Given the description of an element on the screen output the (x, y) to click on. 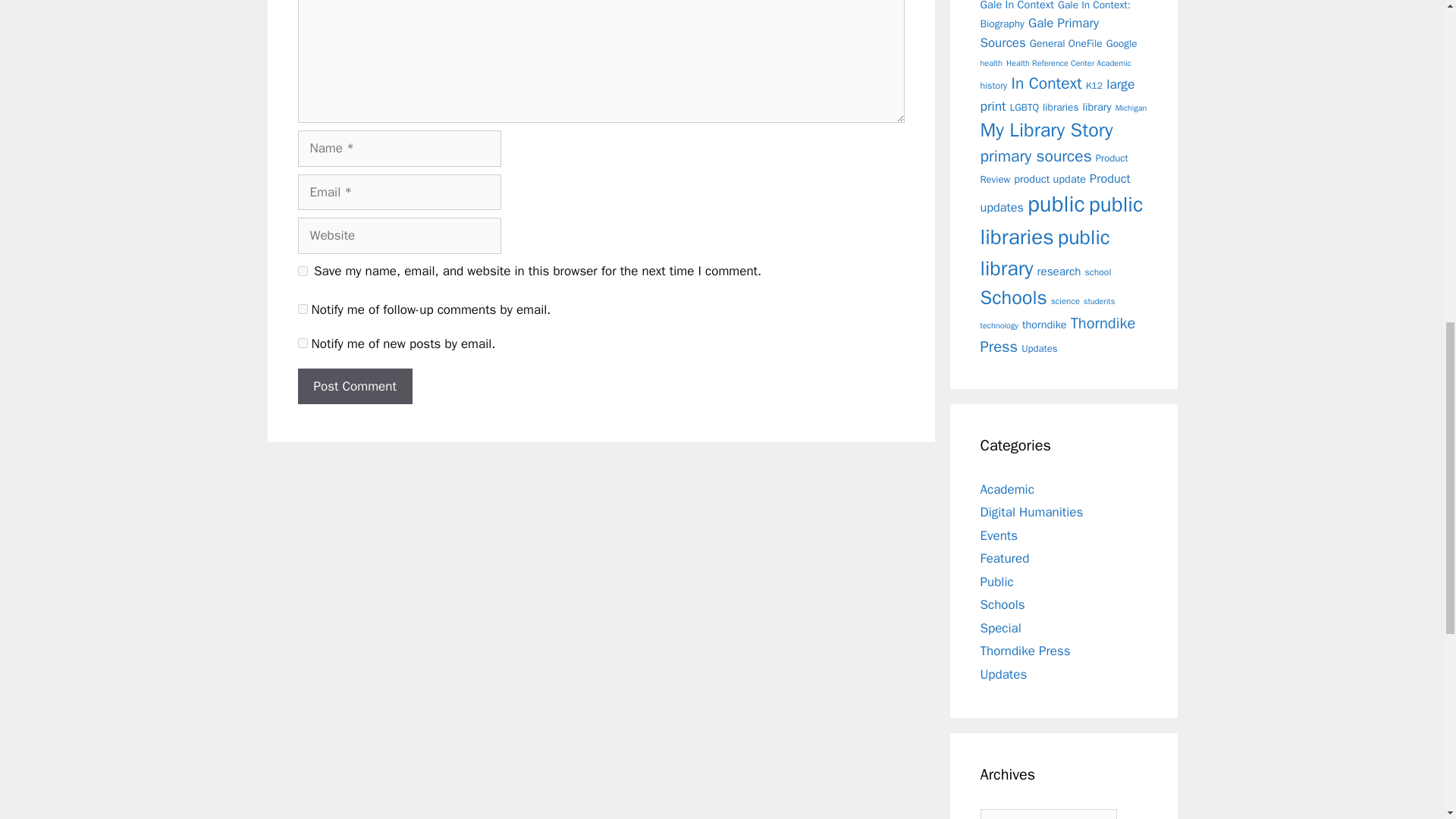
subscribe (302, 343)
Post Comment (354, 386)
subscribe (302, 308)
Scroll back to top (1406, 720)
yes (302, 271)
Post Comment (354, 386)
